Given the description of an element on the screen output the (x, y) to click on. 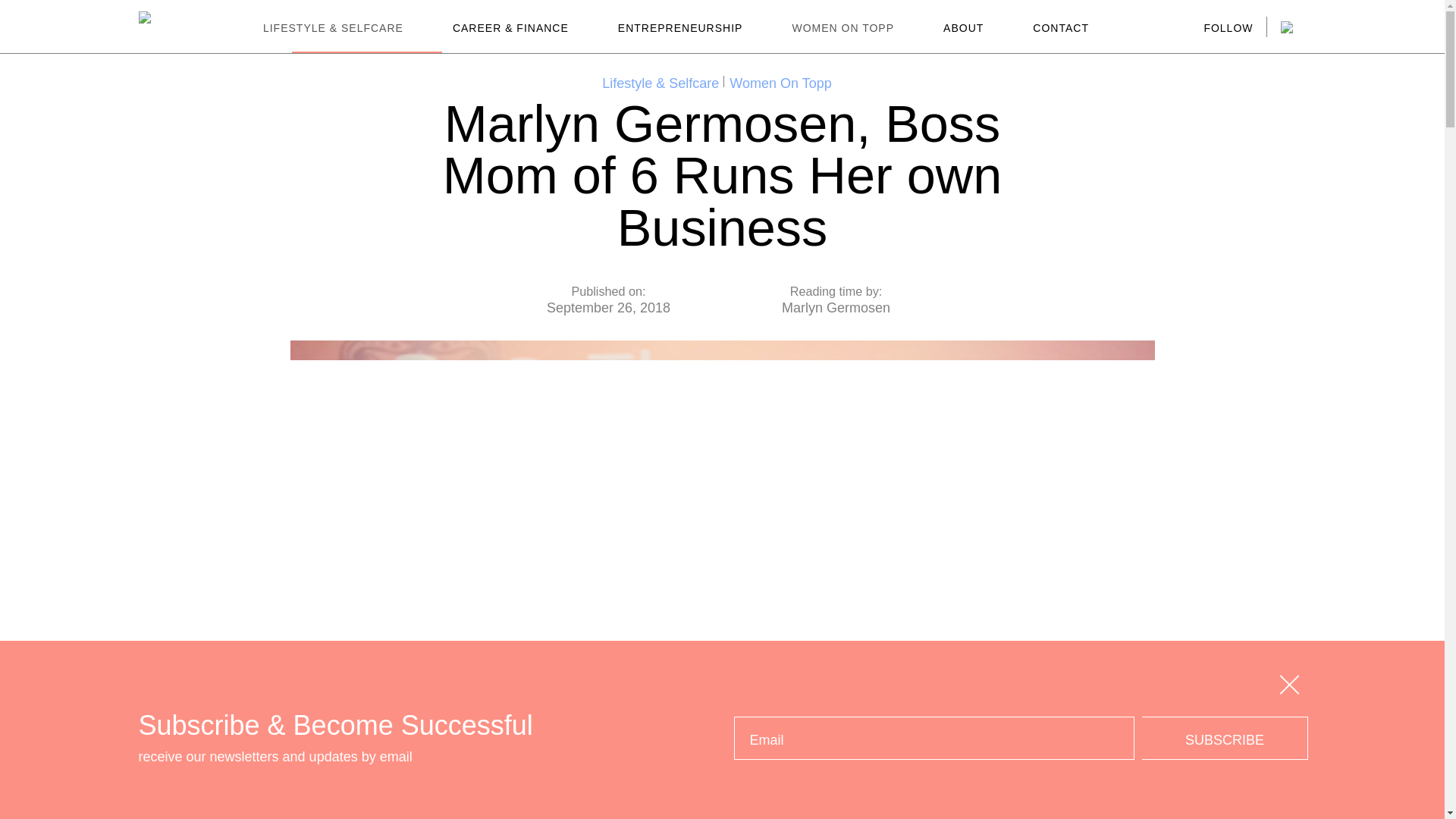
Women On Topp (780, 83)
Subscribe (1224, 738)
ENTREPRENEURSHIP (680, 28)
FOLLOW (1227, 29)
About (962, 28)
CONTACT (1061, 28)
ABOUT (962, 28)
WOMEN ON TOPP (842, 28)
Entrepreneurship (680, 28)
Women On Topp (842, 28)
